Given the description of an element on the screen output the (x, y) to click on. 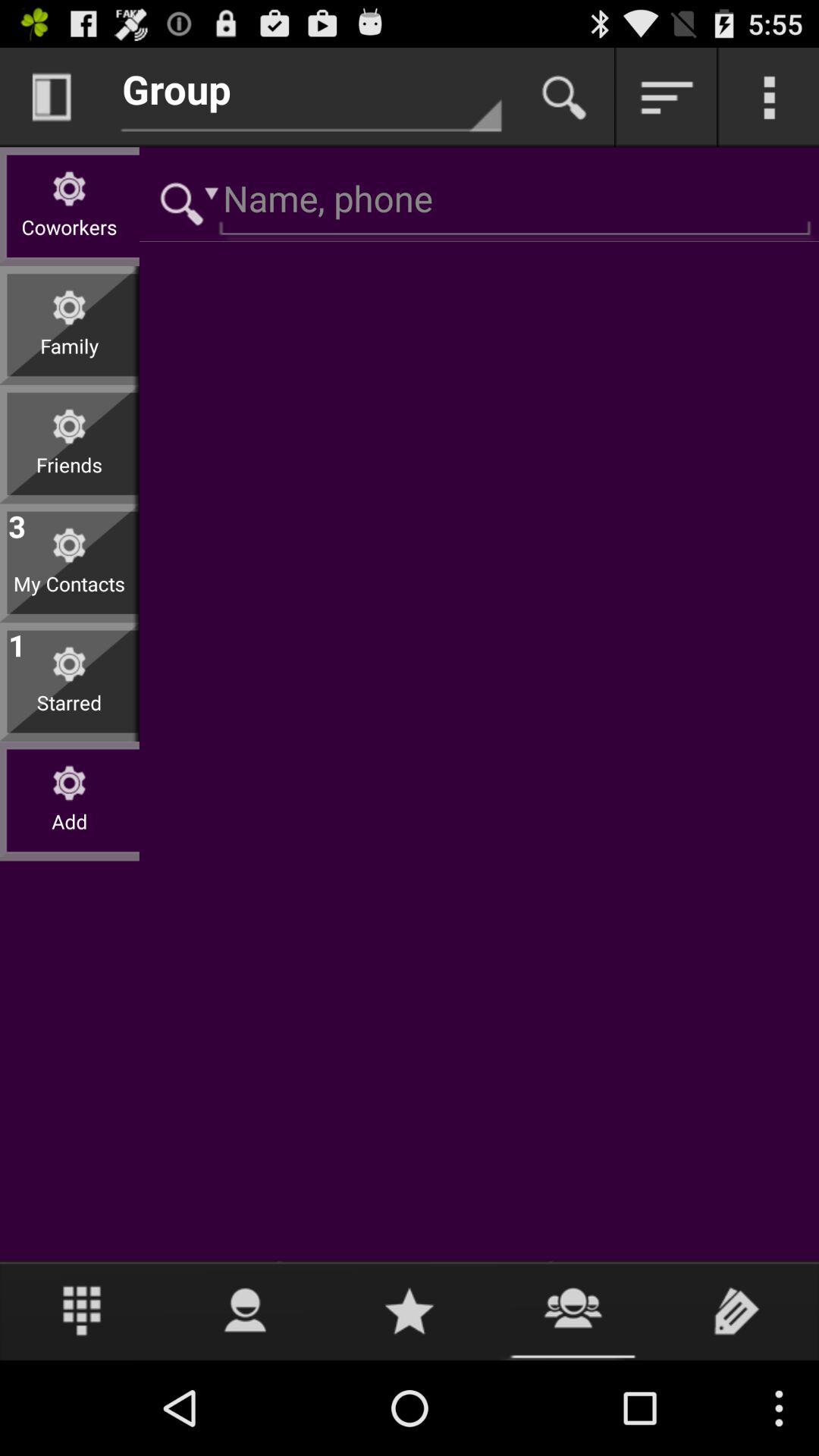
open menu (81, 1310)
